Given the description of an element on the screen output the (x, y) to click on. 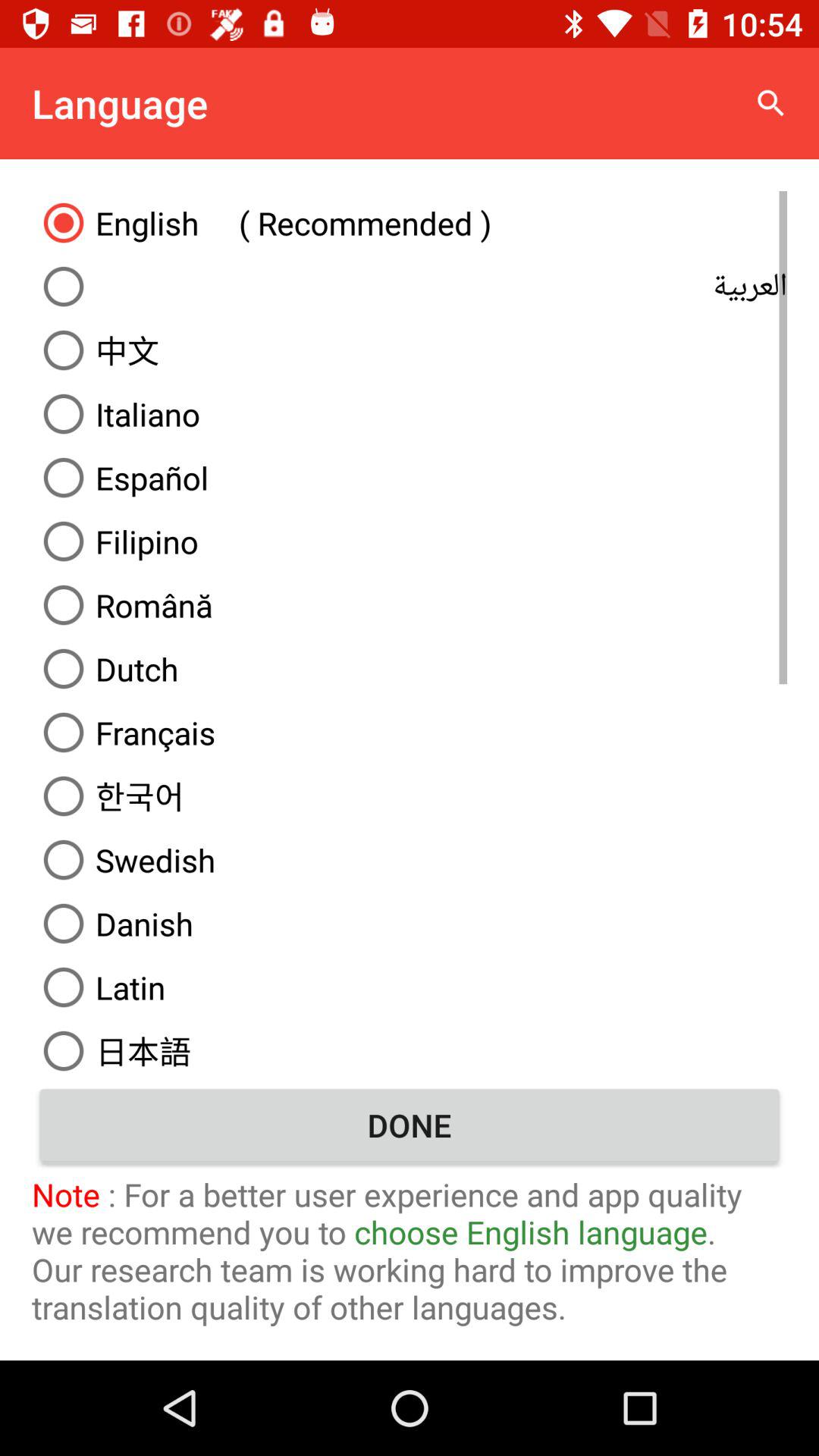
click the icon above the filipino icon (409, 477)
